Given the description of an element on the screen output the (x, y) to click on. 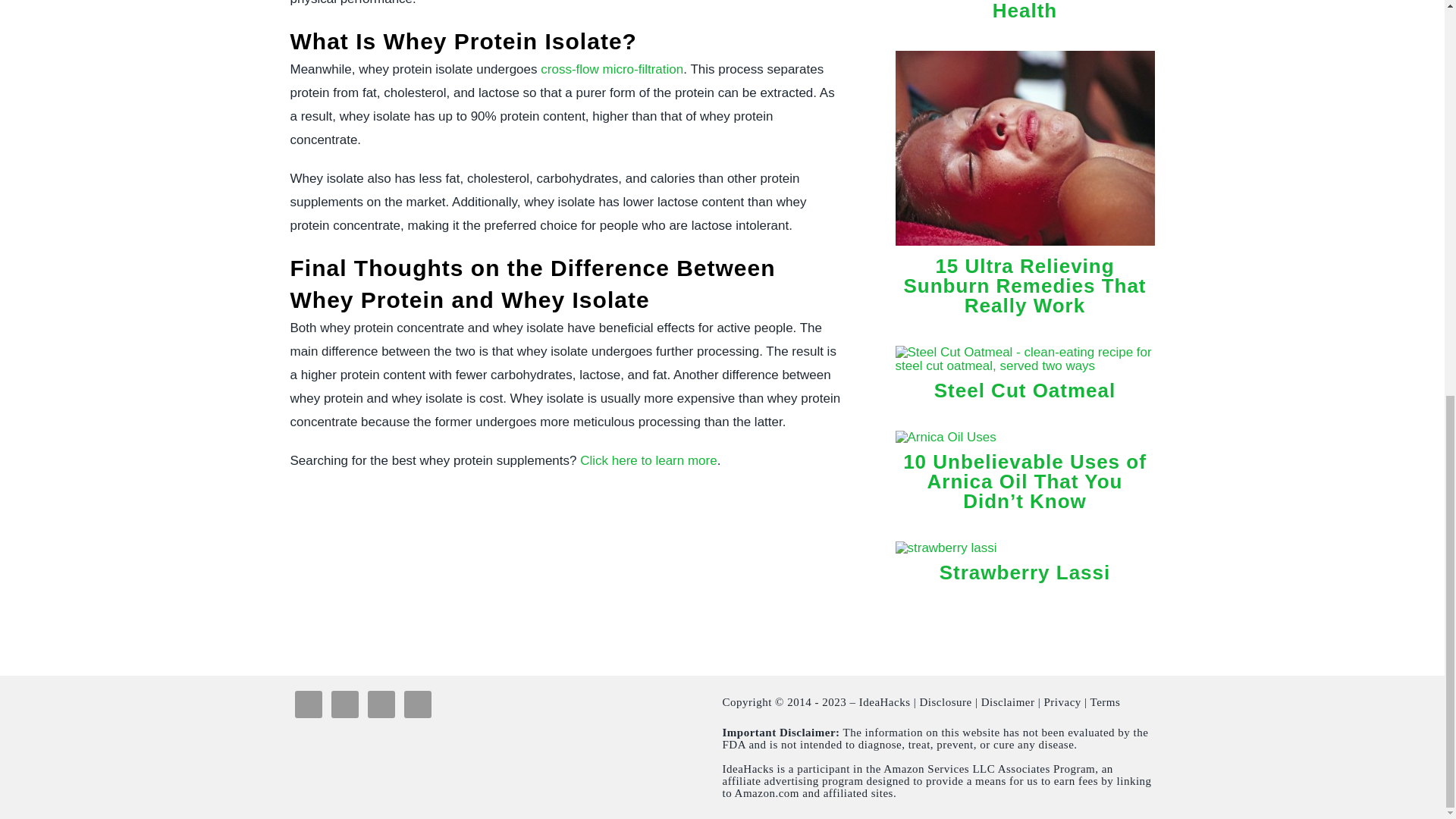
Strawberry Lassi (1024, 572)
Steel Cut Oatmeal (1025, 390)
Click here to learn more (647, 460)
Disclaimer (1008, 702)
Disclosure (946, 702)
Steel Cut Oatmeal (1025, 390)
Strawberry Lassi (945, 547)
How Probiotics Benefits And Restores Your Health (1024, 11)
cross-flow micro-filtration (611, 69)
Privacy (1062, 702)
15 Ultra Relieving Sunburn Remedies That Really Work (1023, 285)
Terms (1105, 702)
Strawberry Lassi (1024, 572)
Steel Cut Oatmeal (1024, 365)
15 Ultra Relieving Sunburn Remedies That Really Work (1024, 248)
